Given the description of an element on the screen output the (x, y) to click on. 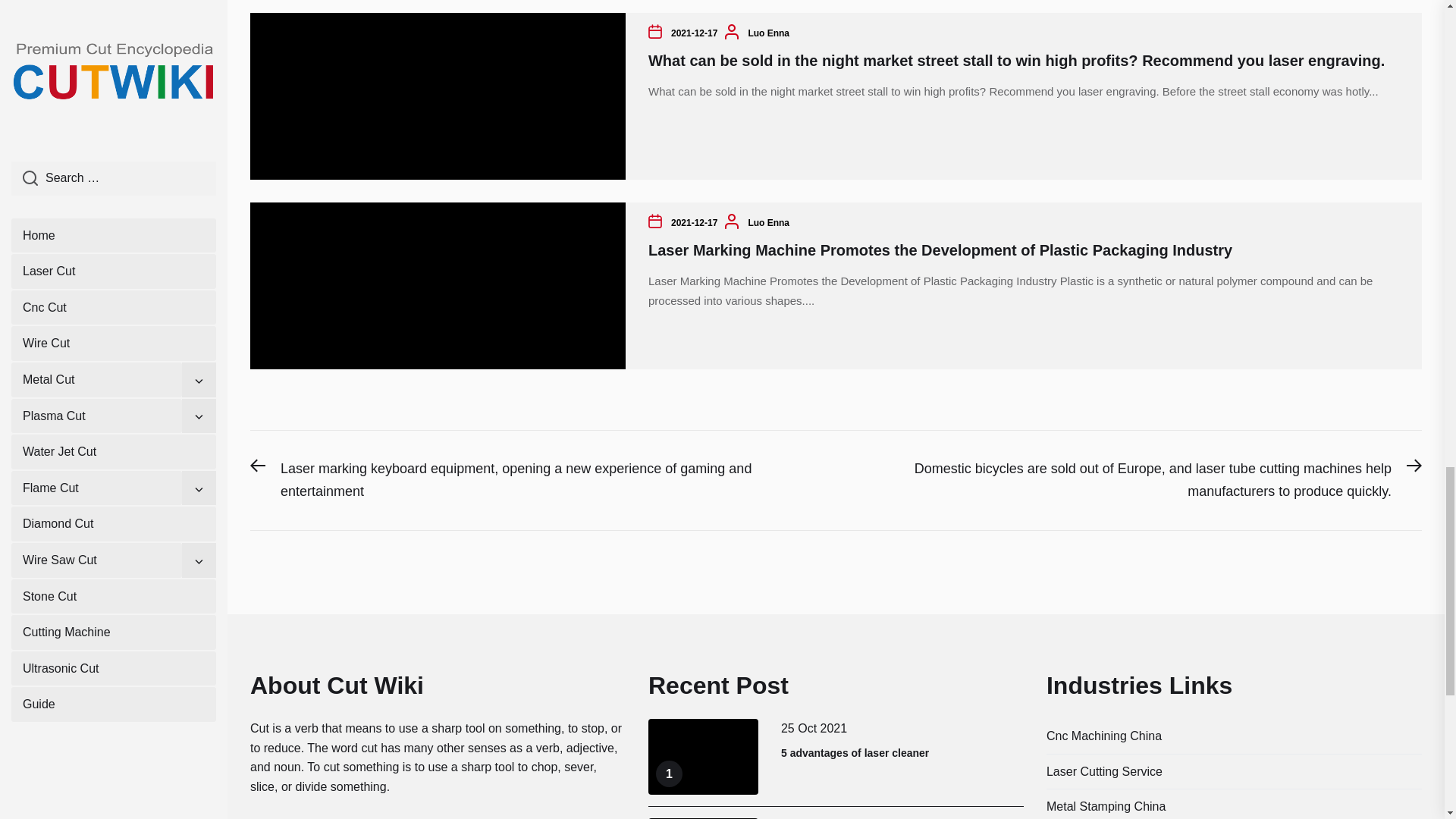
5 advantages of laser cleaner (854, 752)
